Given the description of an element on the screen output the (x, y) to click on. 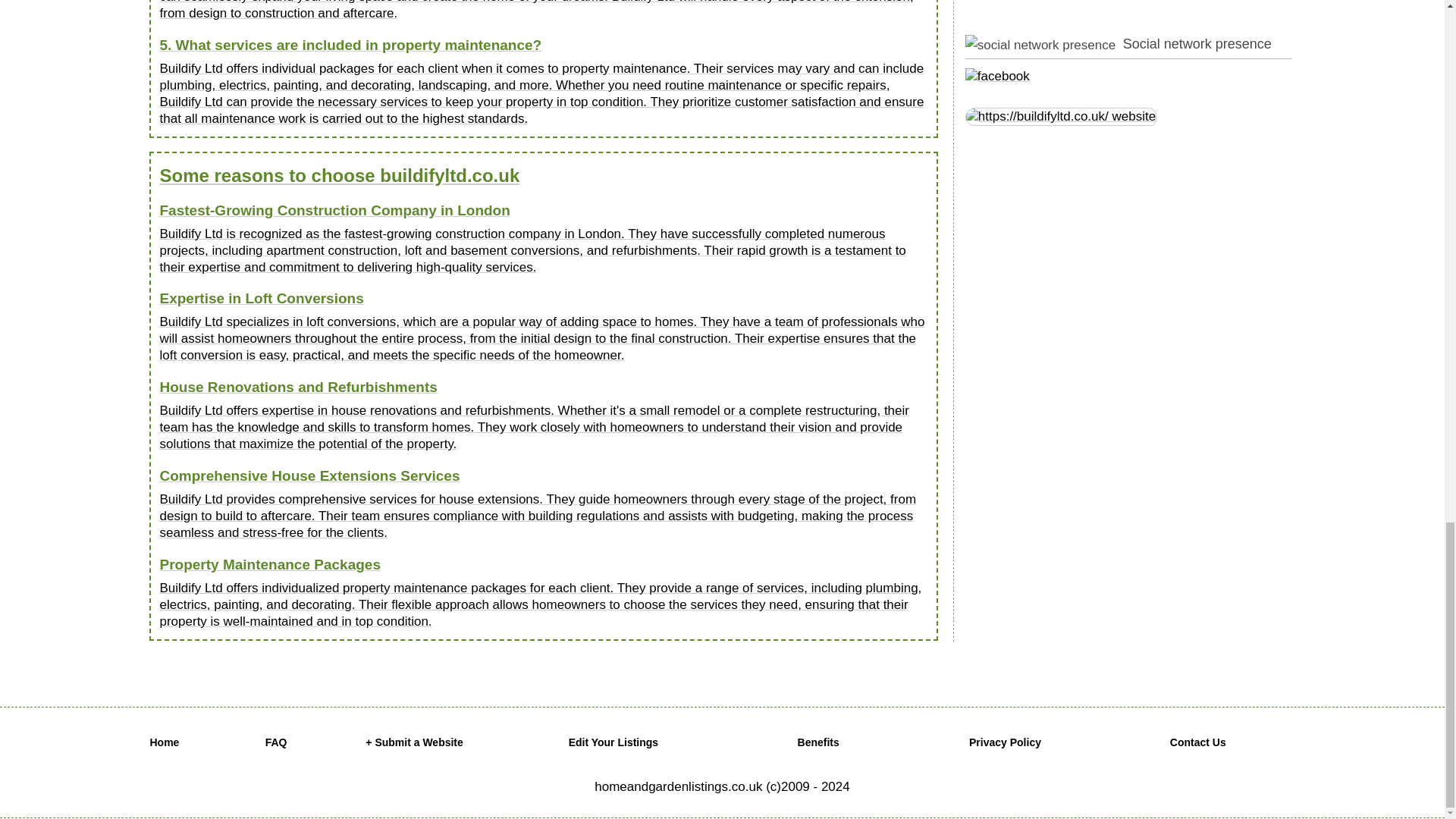
Contact Us (1197, 742)
Benefits (818, 742)
Home (164, 742)
FAQ (275, 742)
Privacy Policy (1005, 742)
Edit Your Listings (614, 742)
